Given the description of an element on the screen output the (x, y) to click on. 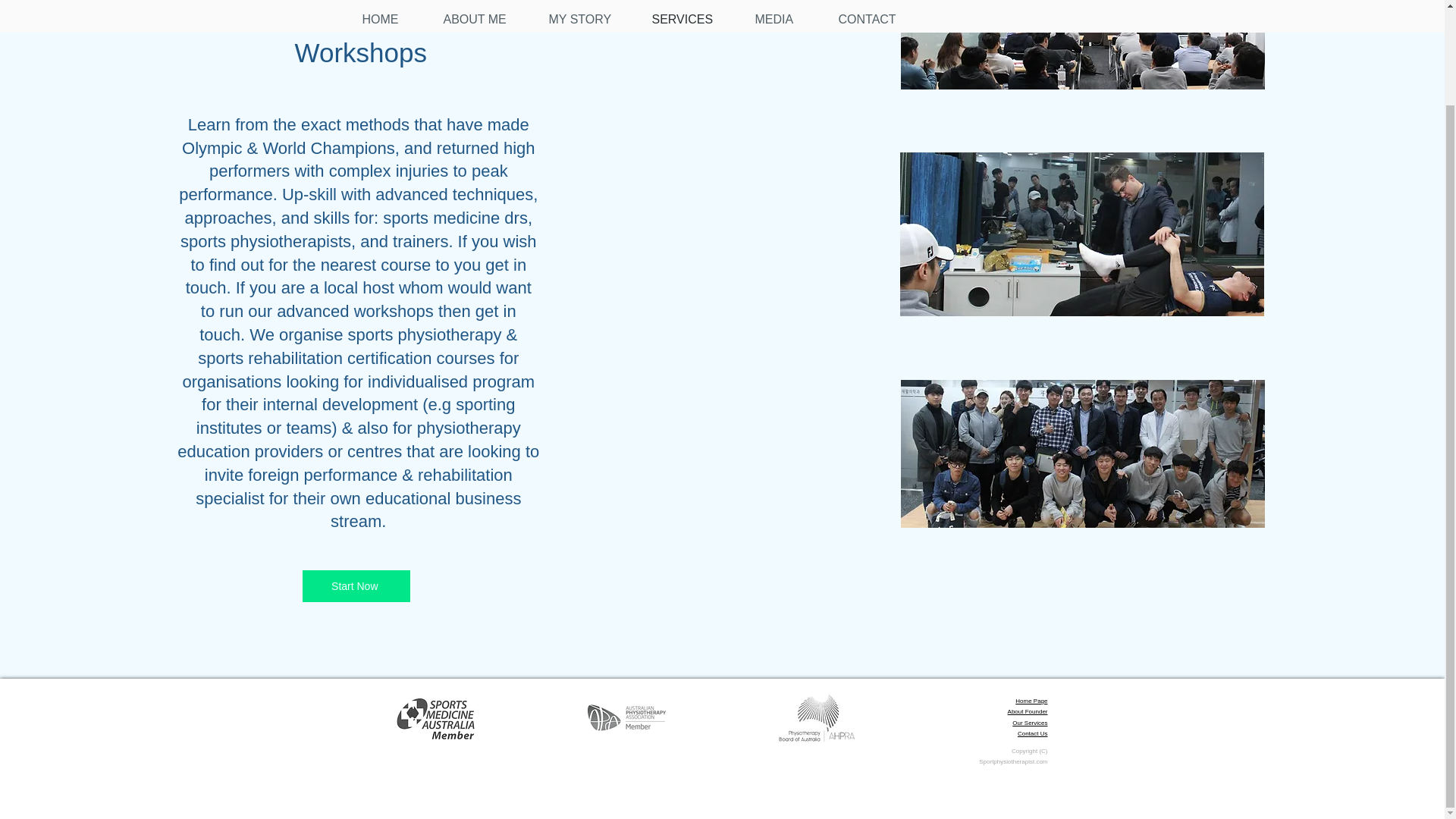
About Founder (1027, 711)
Home Page (1030, 700)
Start Now (356, 585)
Our Services (1028, 722)
Contact Us (1032, 733)
